Given the description of an element on the screen output the (x, y) to click on. 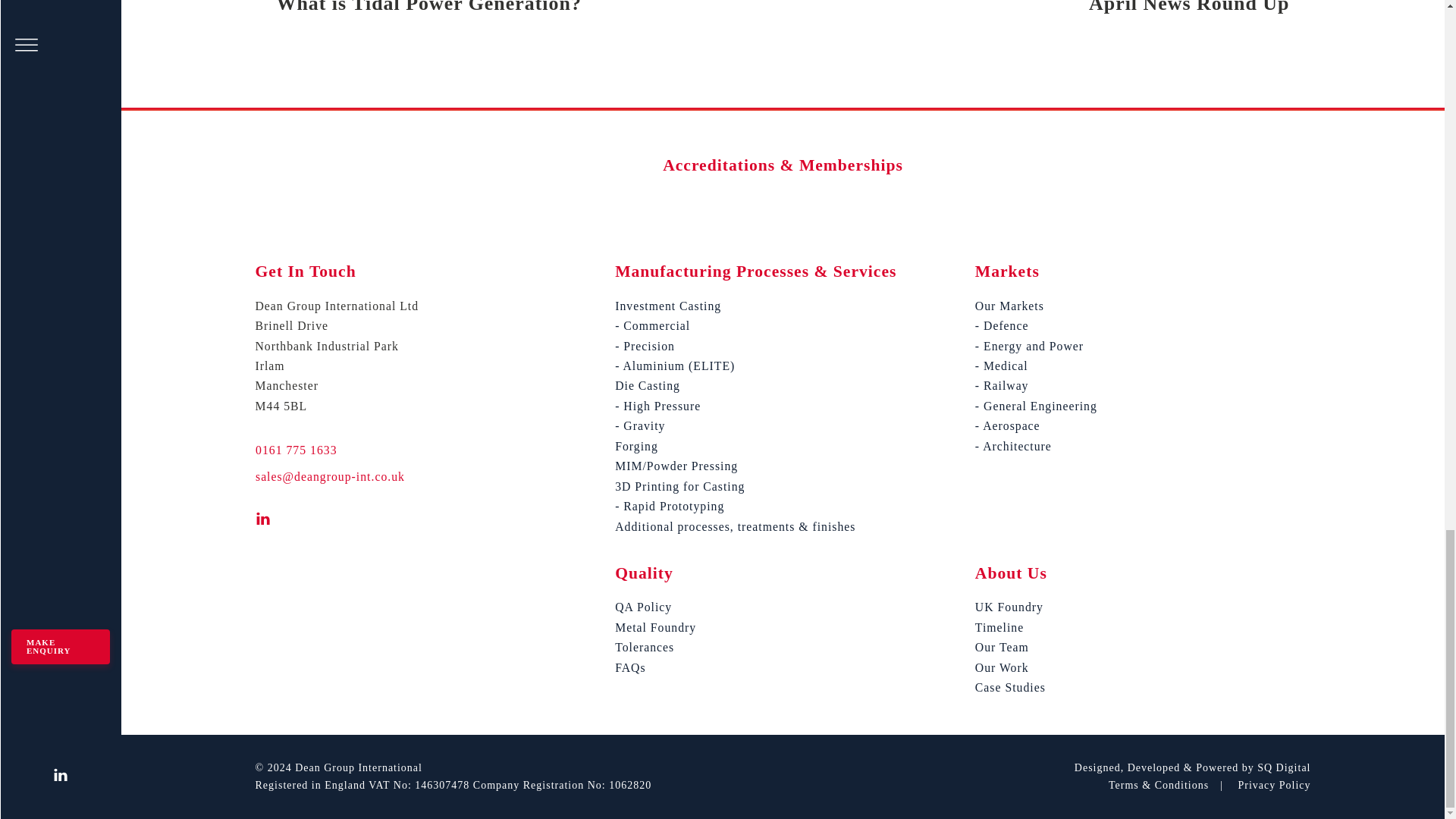
0161 775 1633 (295, 450)
Investment Casting (735, 306)
Forging (735, 446)
- Rapid Prototyping (735, 506)
- Defence (1036, 325)
Our Markets (1036, 306)
- Medical (1036, 365)
- General Engineering (1036, 406)
- Energy and Power (1036, 346)
3D Printing for Casting (735, 486)
Die Casting (735, 385)
- Gravity (735, 425)
- Aerospace (1046, 8)
- Architecture (1036, 425)
